Given the description of an element on the screen output the (x, y) to click on. 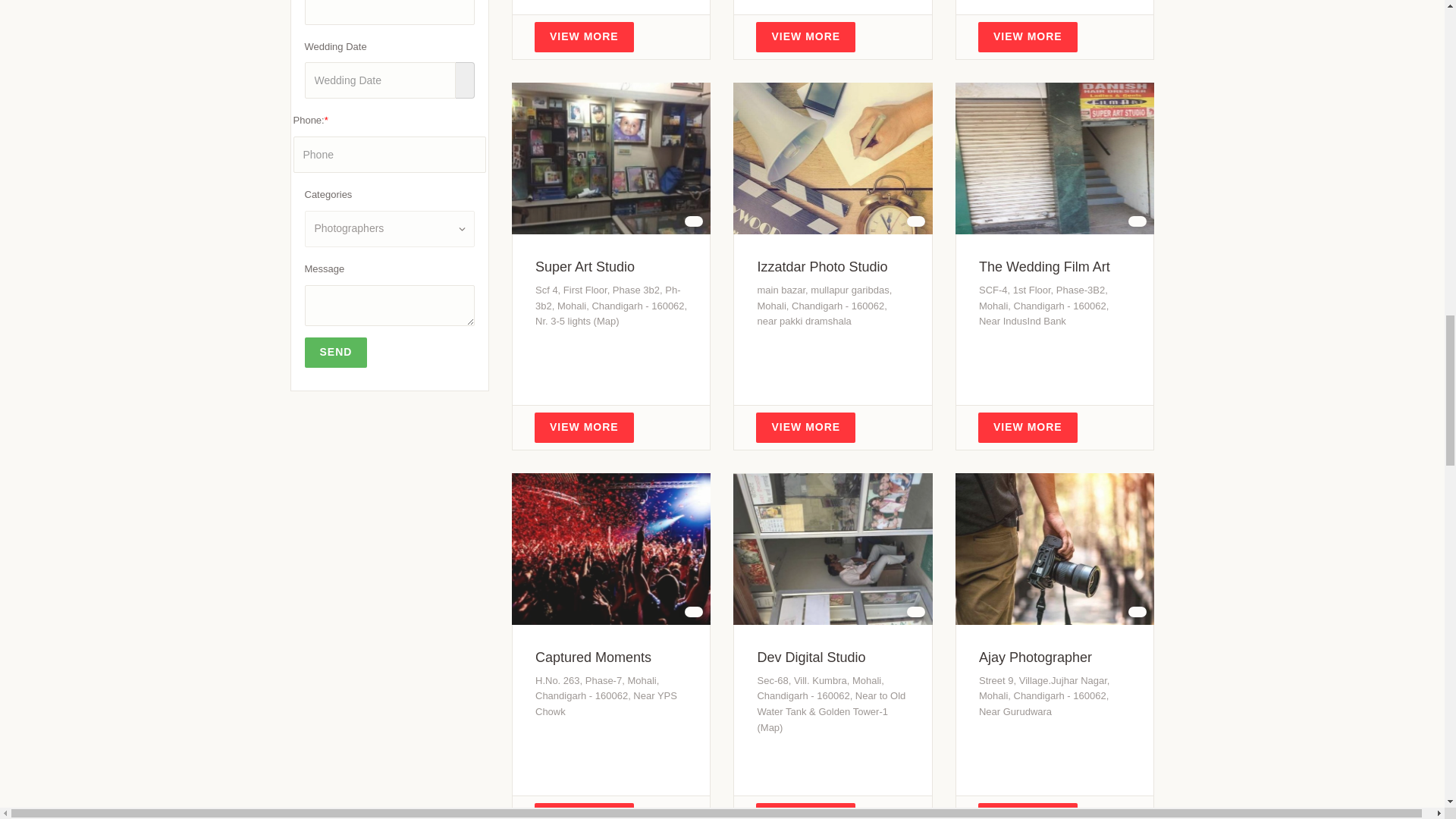
Super Art Studio in mohali  (584, 266)
